Given the description of an element on the screen output the (x, y) to click on. 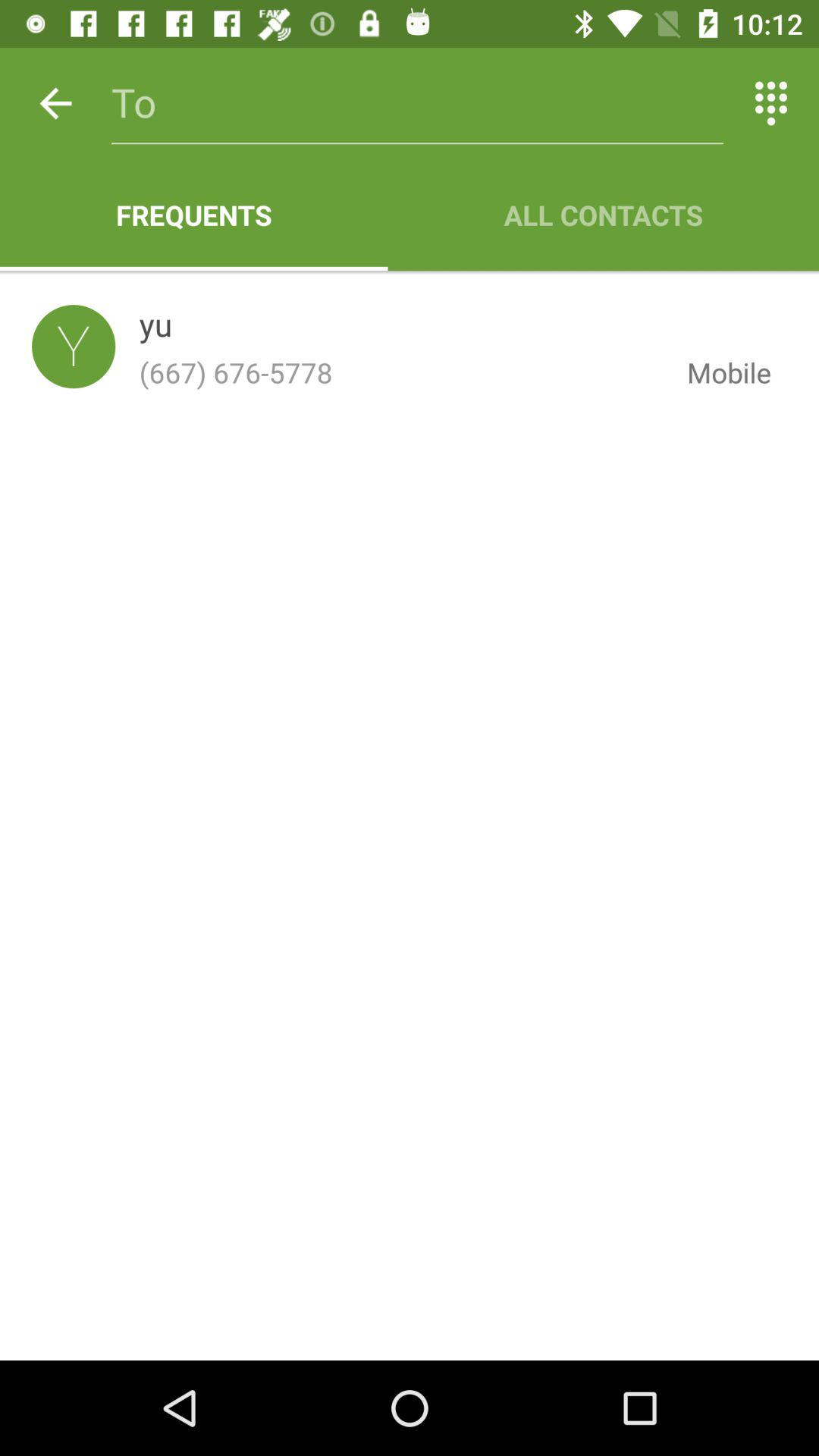
press item to the left of the mobile item (401, 372)
